Given the description of an element on the screen output the (x, y) to click on. 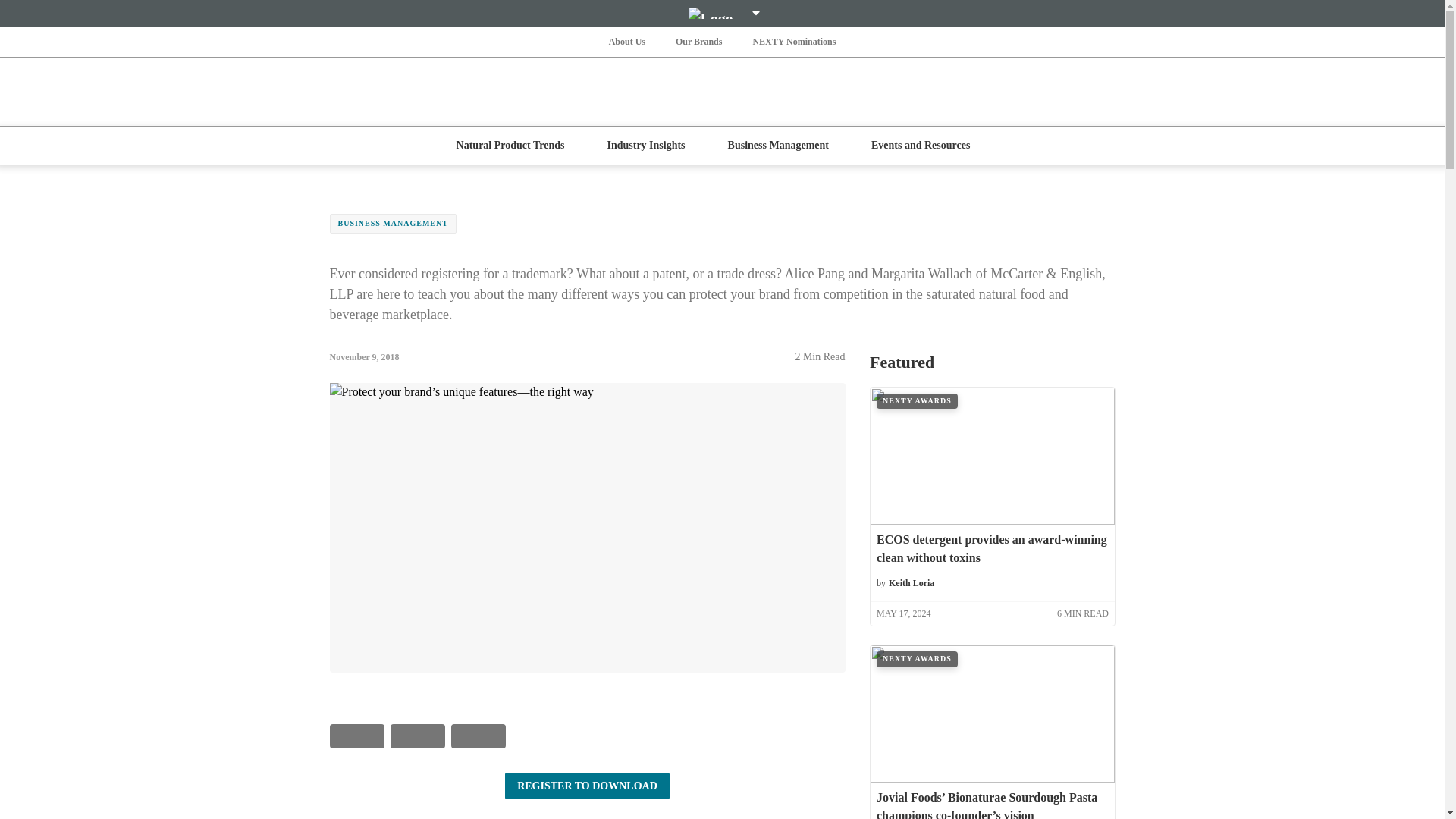
Our Brands (698, 41)
About Us (626, 41)
NEXTY Nominations (793, 41)
